Given the description of an element on the screen output the (x, y) to click on. 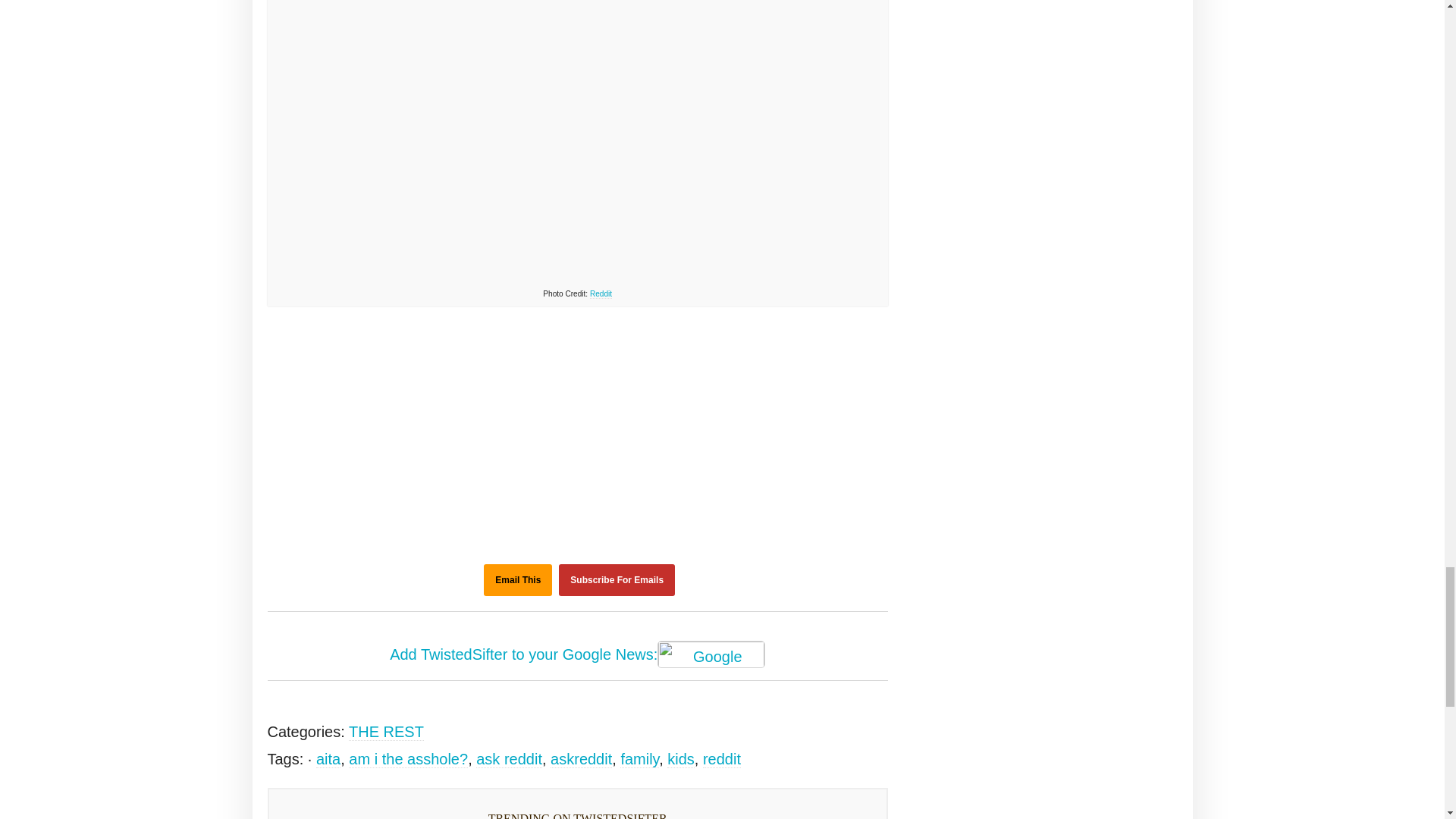
Google News (711, 654)
Email This (517, 580)
THE REST (386, 732)
Add TwistedSifter to your Google News: (577, 655)
aita (327, 759)
Subscribe For Emails (617, 580)
Reddit (600, 293)
